Given the description of an element on the screen output the (x, y) to click on. 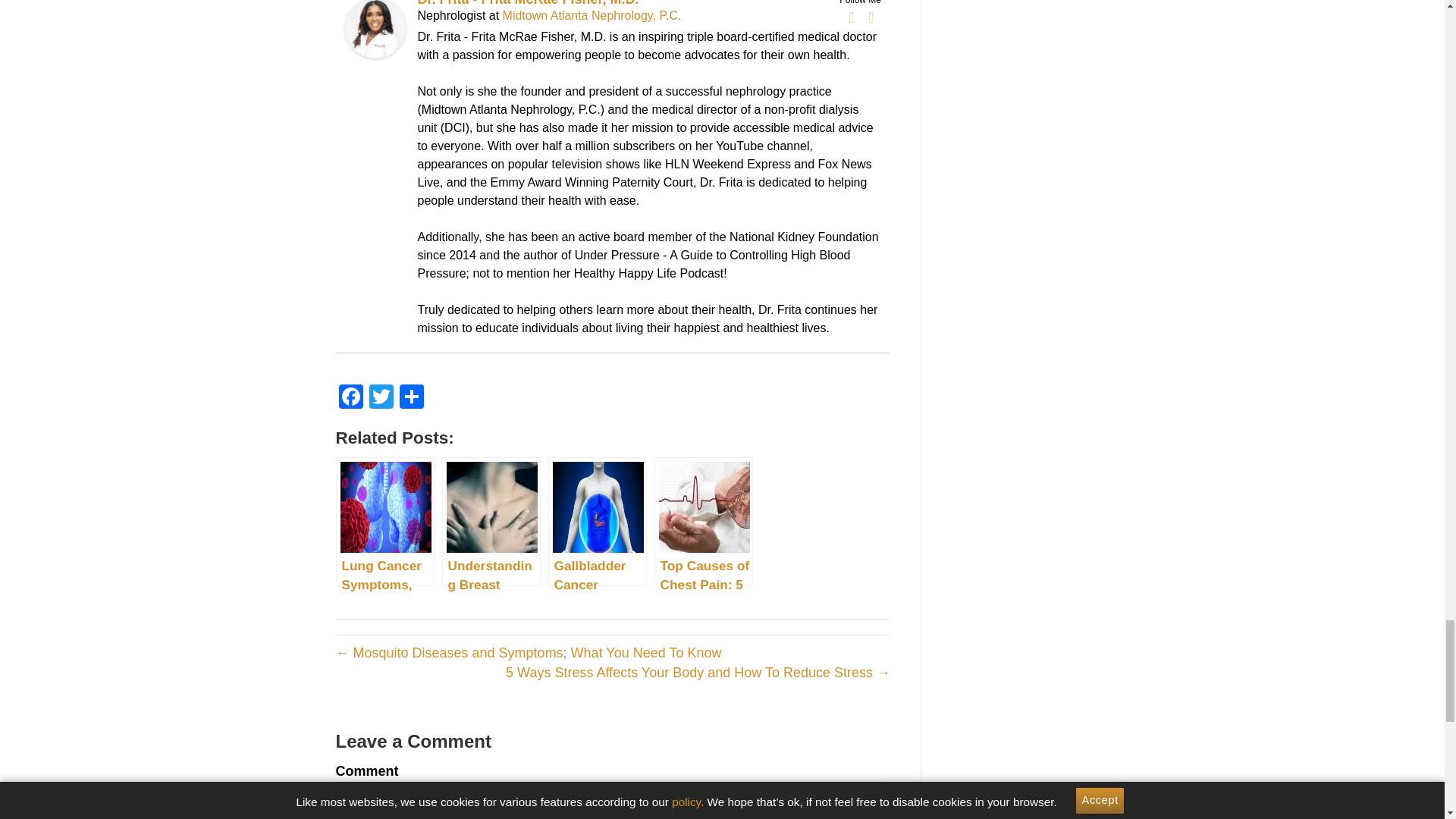
Facebook (349, 398)
Twitter (380, 398)
Twitter (870, 17)
Dr. Frita - Frita McRae Fisher, M.D. (373, 27)
Facebook (851, 17)
